Given the description of an element on the screen output the (x, y) to click on. 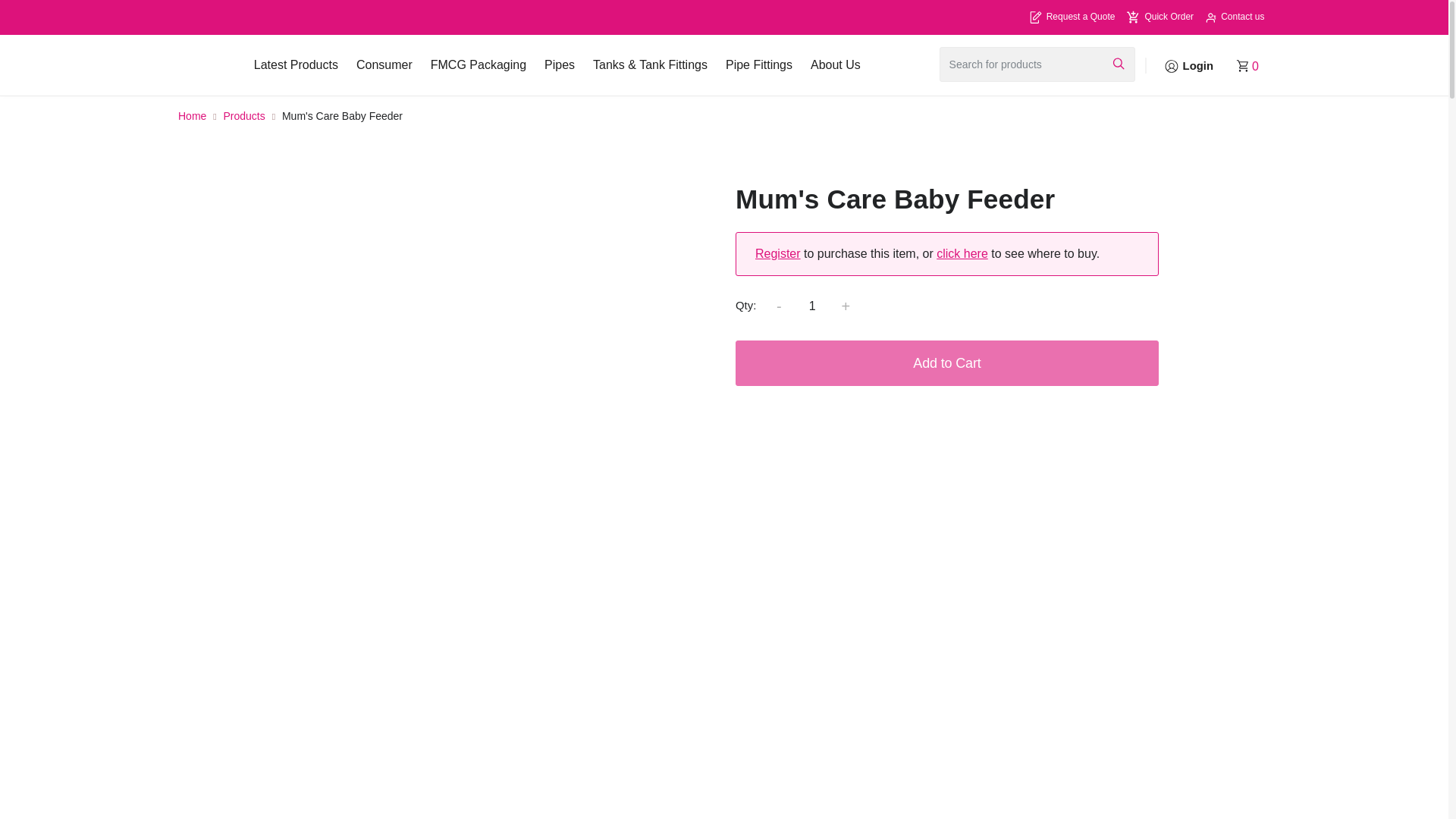
Consumer (384, 65)
Request a Quote (1071, 16)
1 (811, 306)
Latest Products (295, 65)
Cart (1252, 65)
Quick Order (1160, 16)
Contact us (1234, 16)
Request a Quote (1071, 16)
Quick Order (1160, 16)
